Given the description of an element on the screen output the (x, y) to click on. 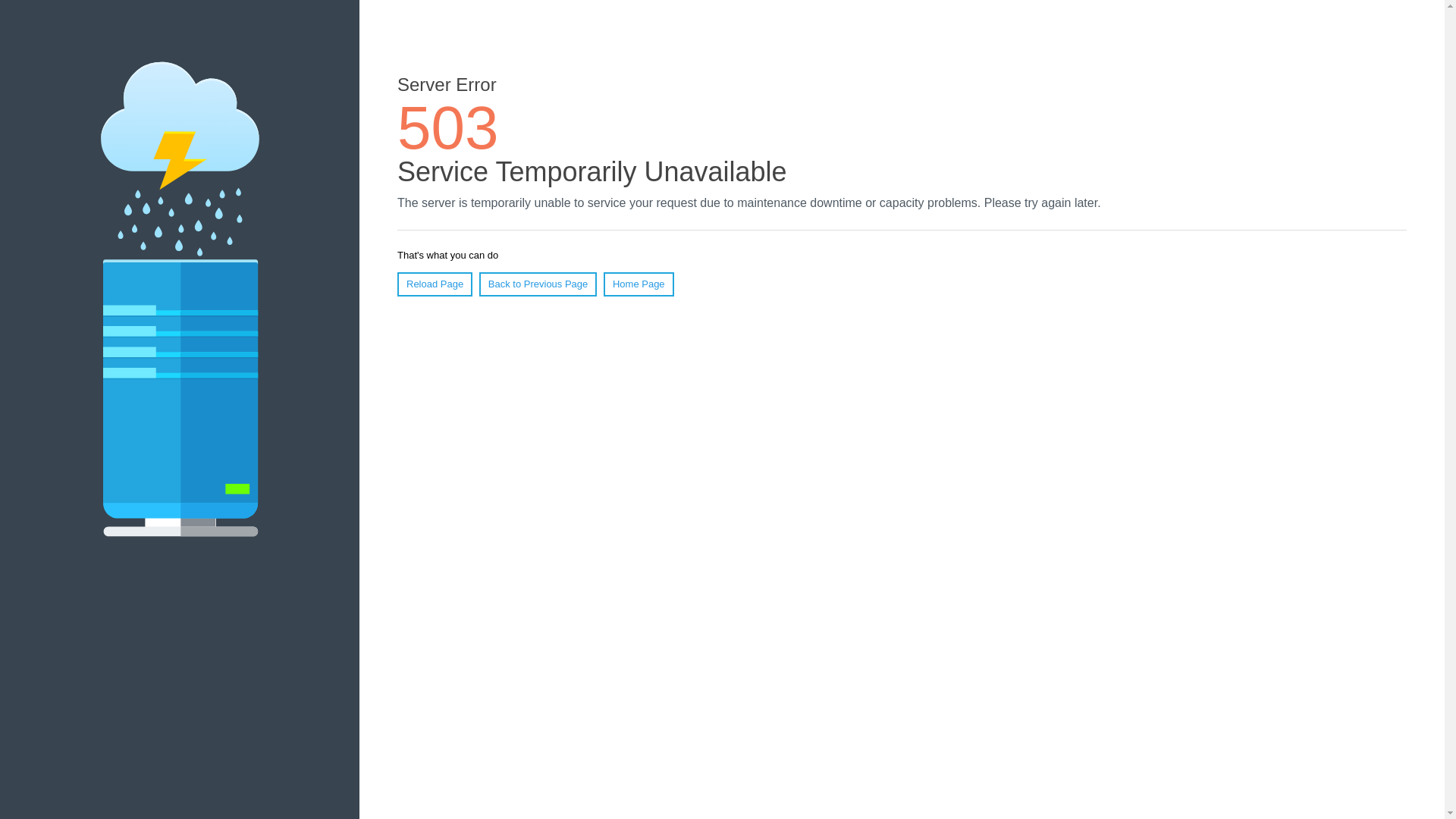
Back to Previous Page Element type: text (538, 284)
Reload Page Element type: text (434, 284)
Home Page Element type: text (638, 284)
